Given the description of an element on the screen output the (x, y) to click on. 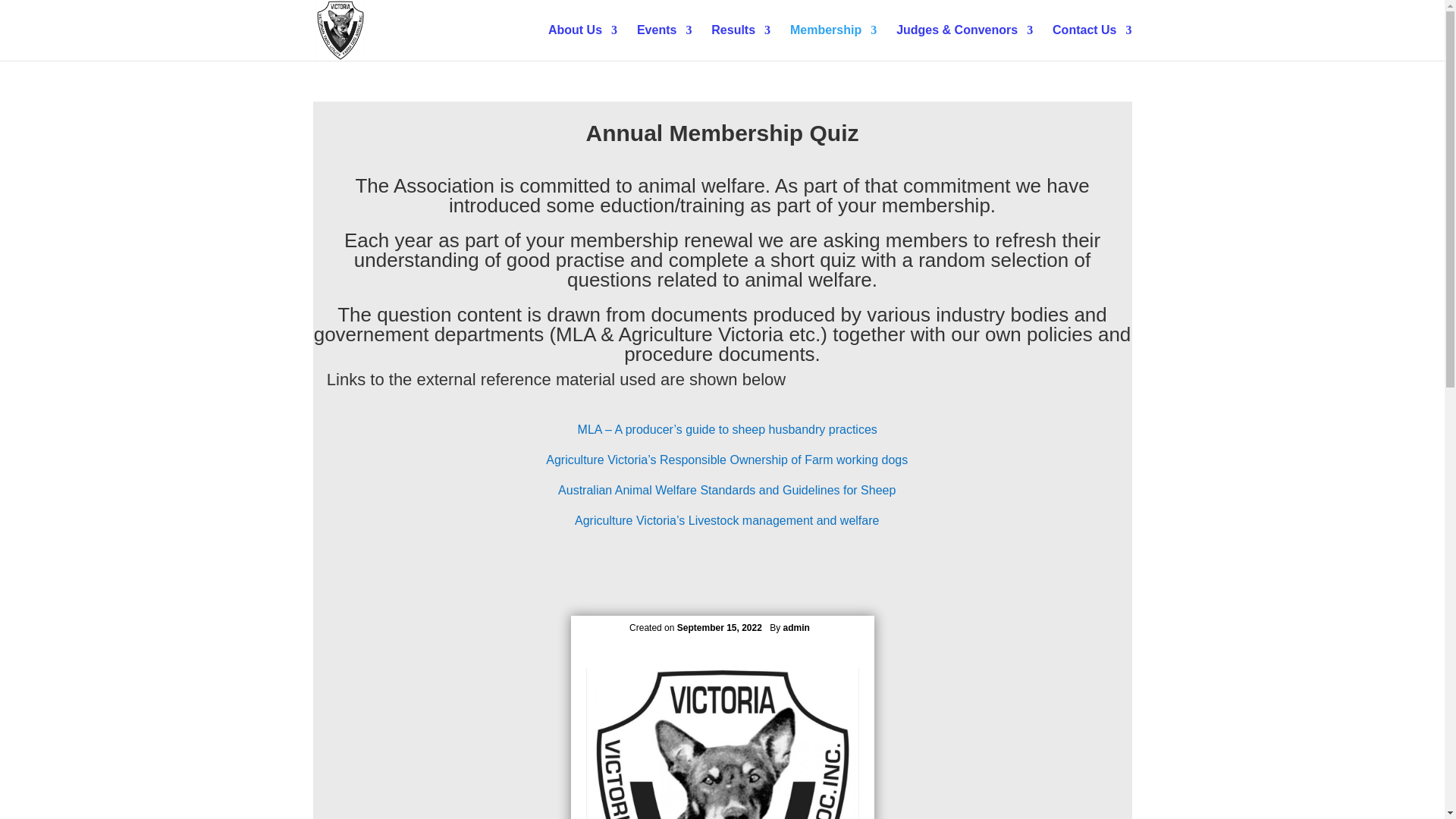
Events (664, 42)
About Us (582, 42)
Membership (833, 42)
Results (740, 42)
